Given the description of an element on the screen output the (x, y) to click on. 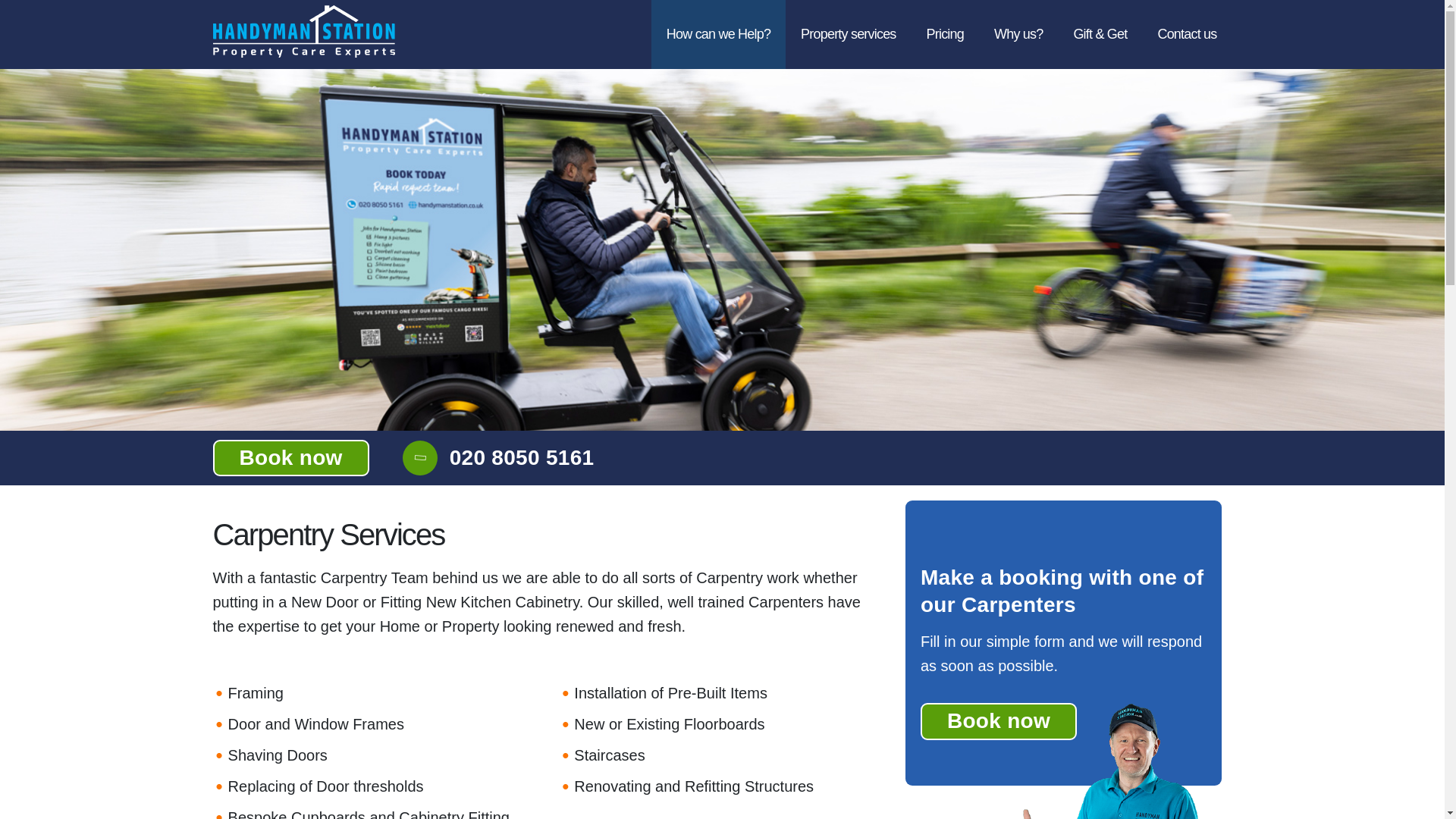
Pricing (944, 34)
Property services (848, 34)
Contact us (1186, 34)
Why us? (1018, 34)
How can we Help? (718, 34)
